Given the description of an element on the screen output the (x, y) to click on. 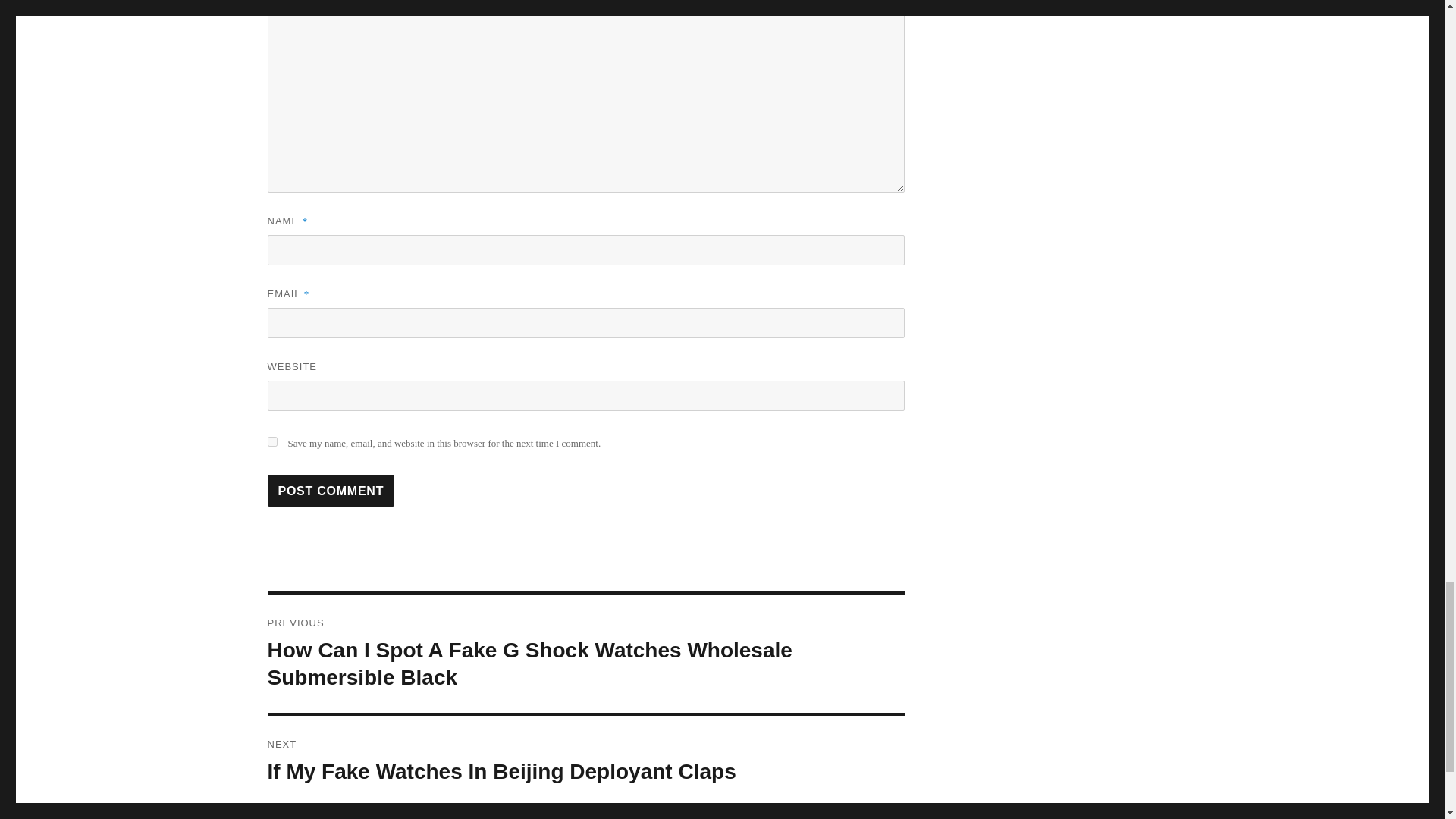
Post Comment (330, 490)
Post Comment (330, 490)
yes (271, 441)
